Given the description of an element on the screen output the (x, y) to click on. 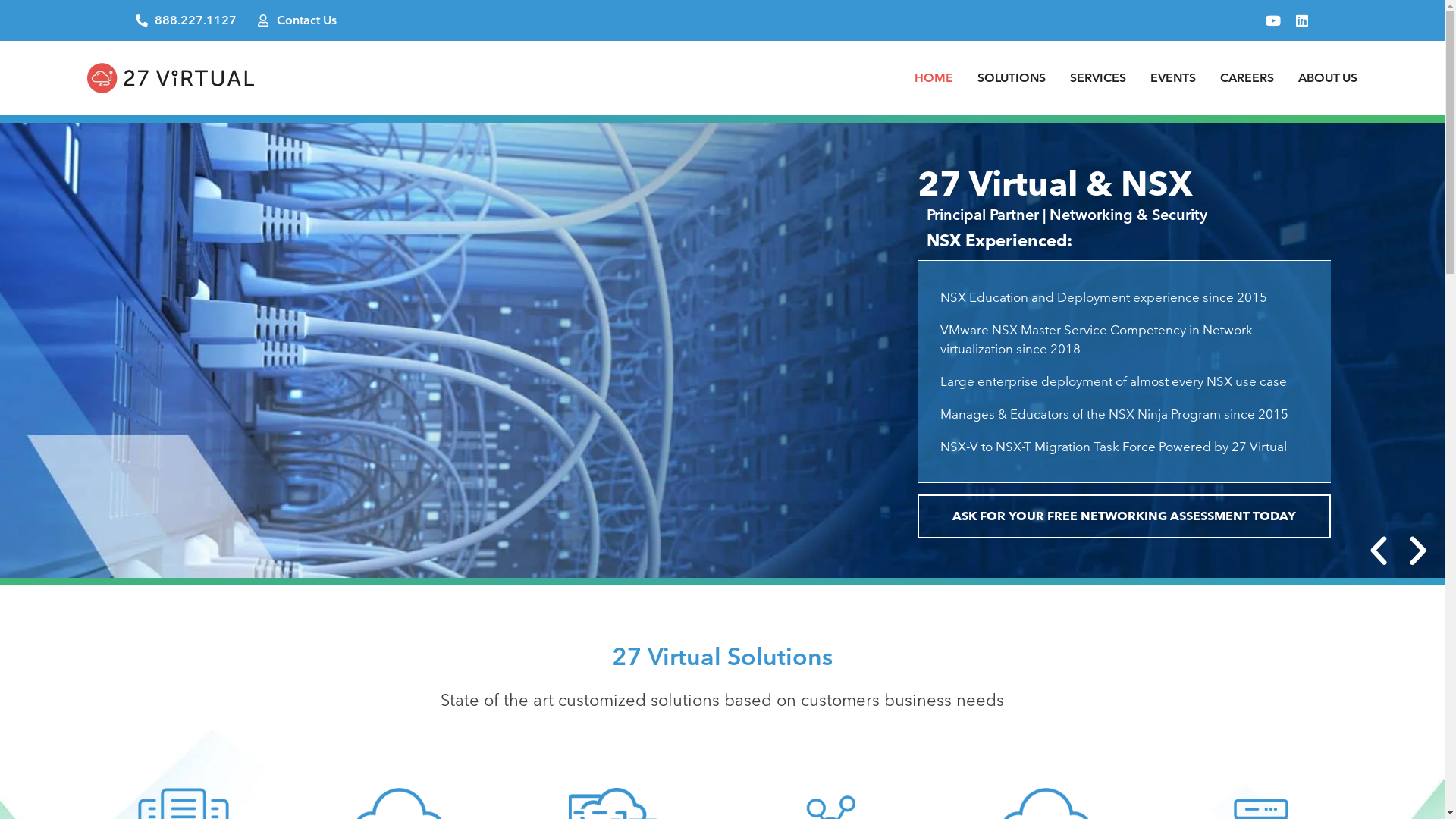
HOME Element type: text (933, 78)
CAREERS Element type: text (1247, 78)
Contact Us Element type: text (296, 20)
SOLUTIONS Element type: text (1011, 78)
888.227.1127 Element type: text (185, 20)
ABOUT US Element type: text (1327, 78)
EVENTS Element type: text (1172, 78)
ASK FOR YOUR FREE NETWORKING ASSESSMENT TODAY Element type: text (1123, 516)
Youtube Element type: text (1273, 20)
Linkedin Element type: text (1301, 20)
SERVICES Element type: text (1098, 78)
